Given the description of an element on the screen output the (x, y) to click on. 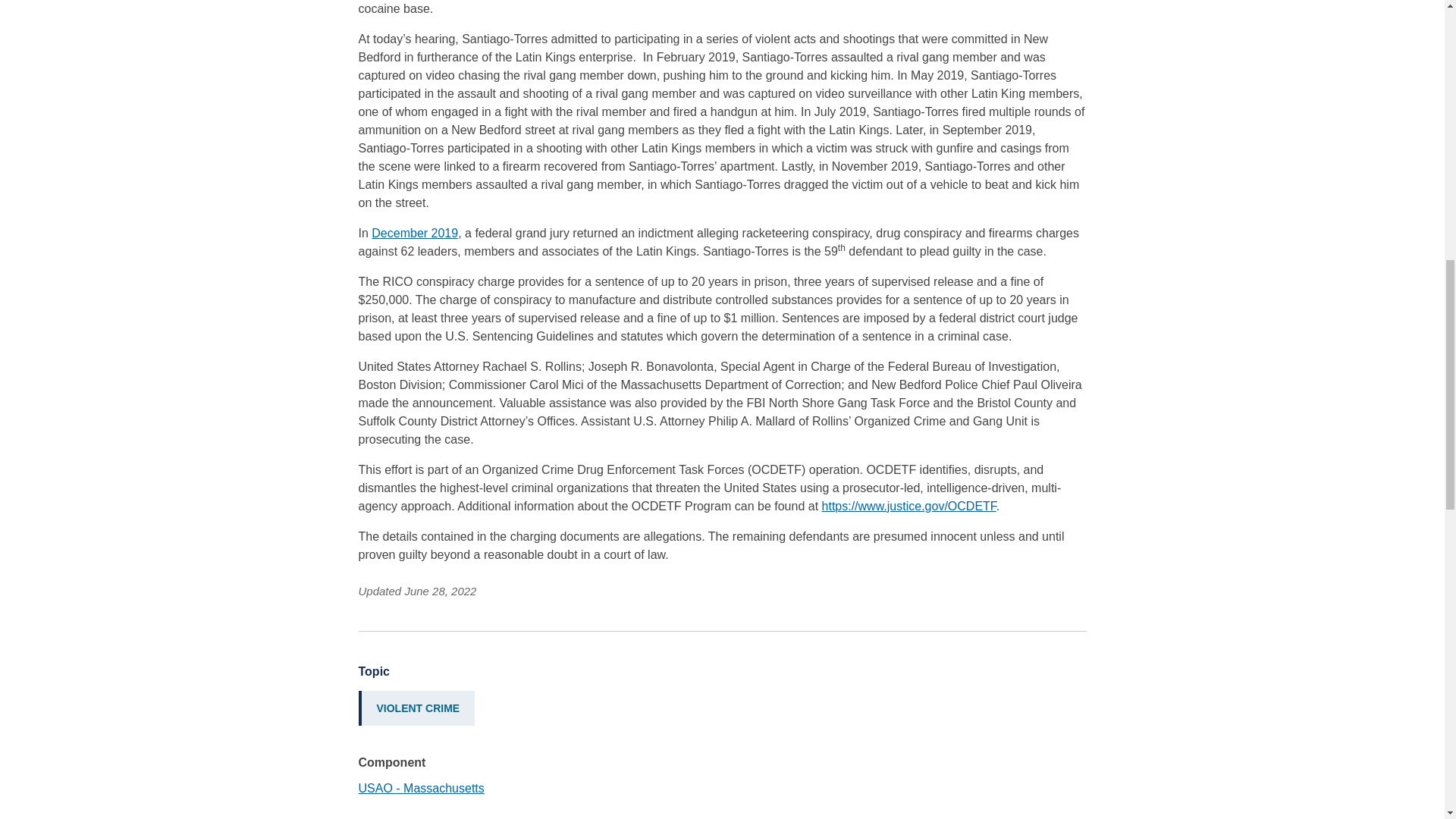
December 2019 (414, 232)
